Given the description of an element on the screen output the (x, y) to click on. 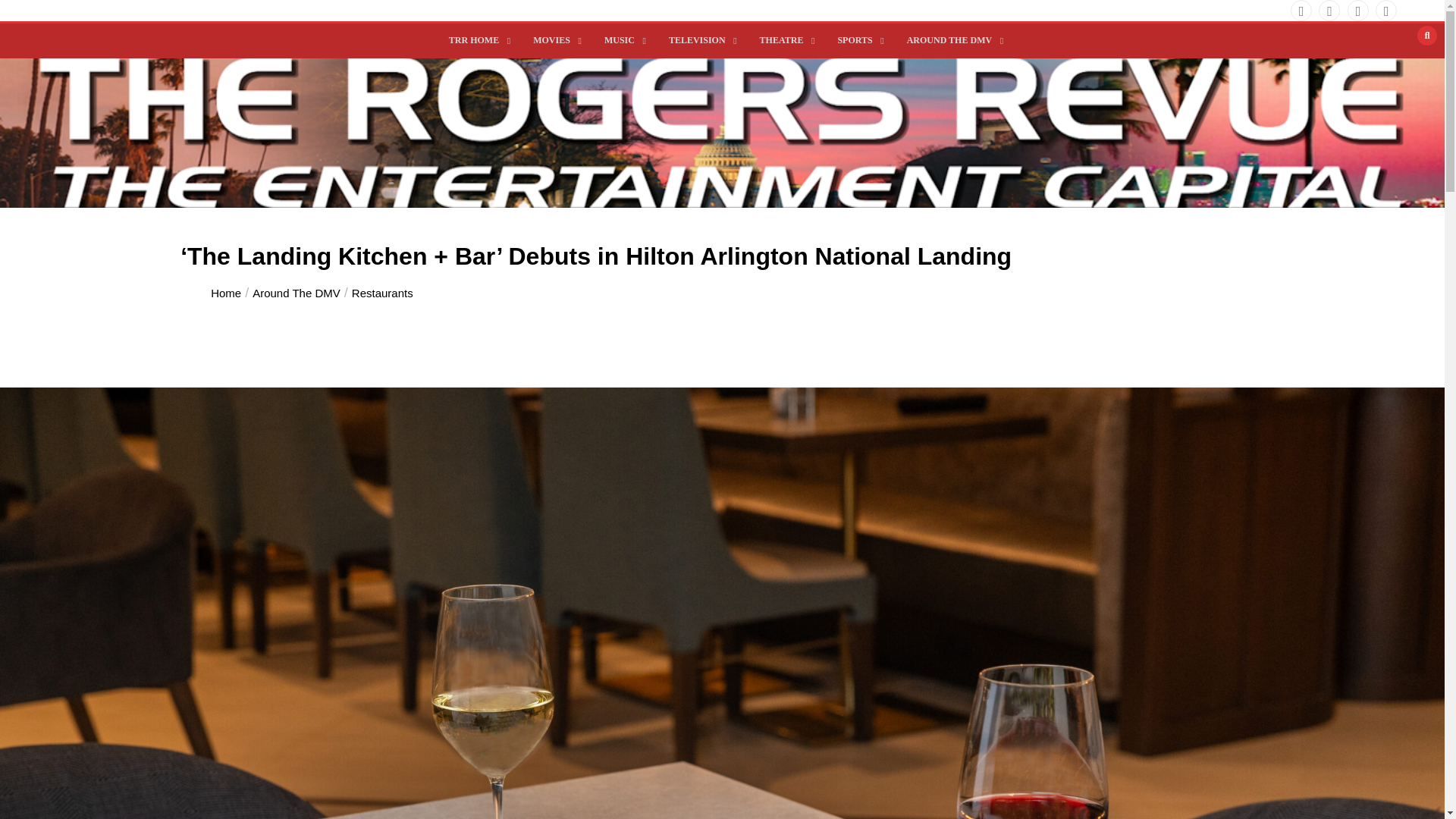
THEATRE (783, 40)
MUSIC (621, 40)
Subscribe (651, 182)
MOVIES (553, 40)
TRR HOME (475, 40)
TELEVISION (698, 40)
AROUND THE DMV (950, 40)
SPORTS (856, 40)
